Given the description of an element on the screen output the (x, y) to click on. 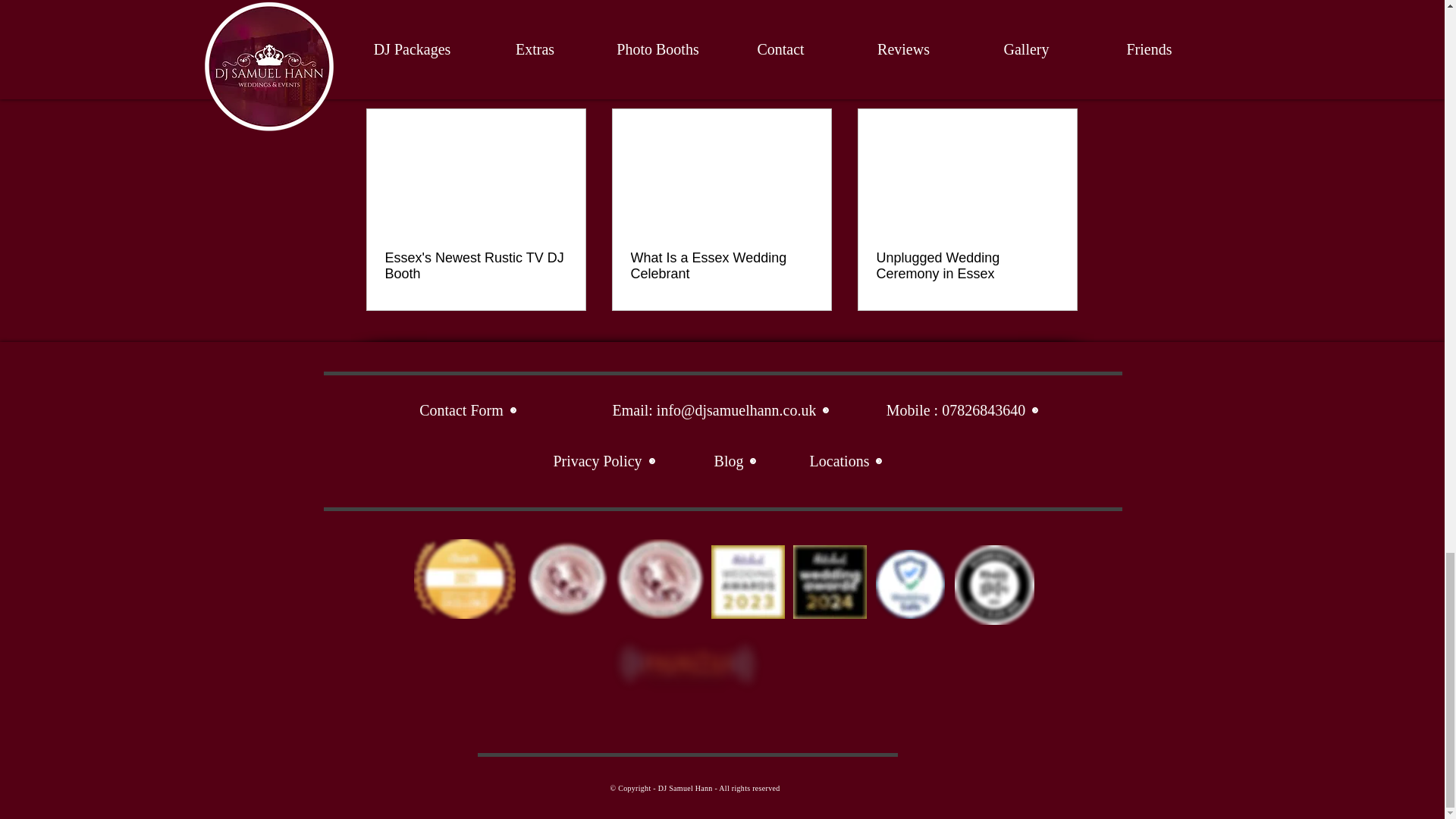
2023-Local-Rounds-winner.png (567, 578)
See All (1061, 82)
2023-Local-Rounds-winner.png (659, 578)
Mobile : 07826843640 (962, 410)
Essex's Newest Rustic TV DJ Booth (476, 265)
2023-Local-Rounds-winner.png (747, 582)
What Is a Essex Wedding Celebrant (721, 265)
2023-Local-Rounds-winner.png (829, 582)
Contact Form (468, 410)
Privacy Policy (604, 461)
Locations (846, 461)
Blog (734, 461)
Unplugged Wedding Ceremony in Essex (967, 265)
2023-Local-Rounds-winner.png (464, 578)
weddng safe (909, 584)
